Given the description of an element on the screen output the (x, y) to click on. 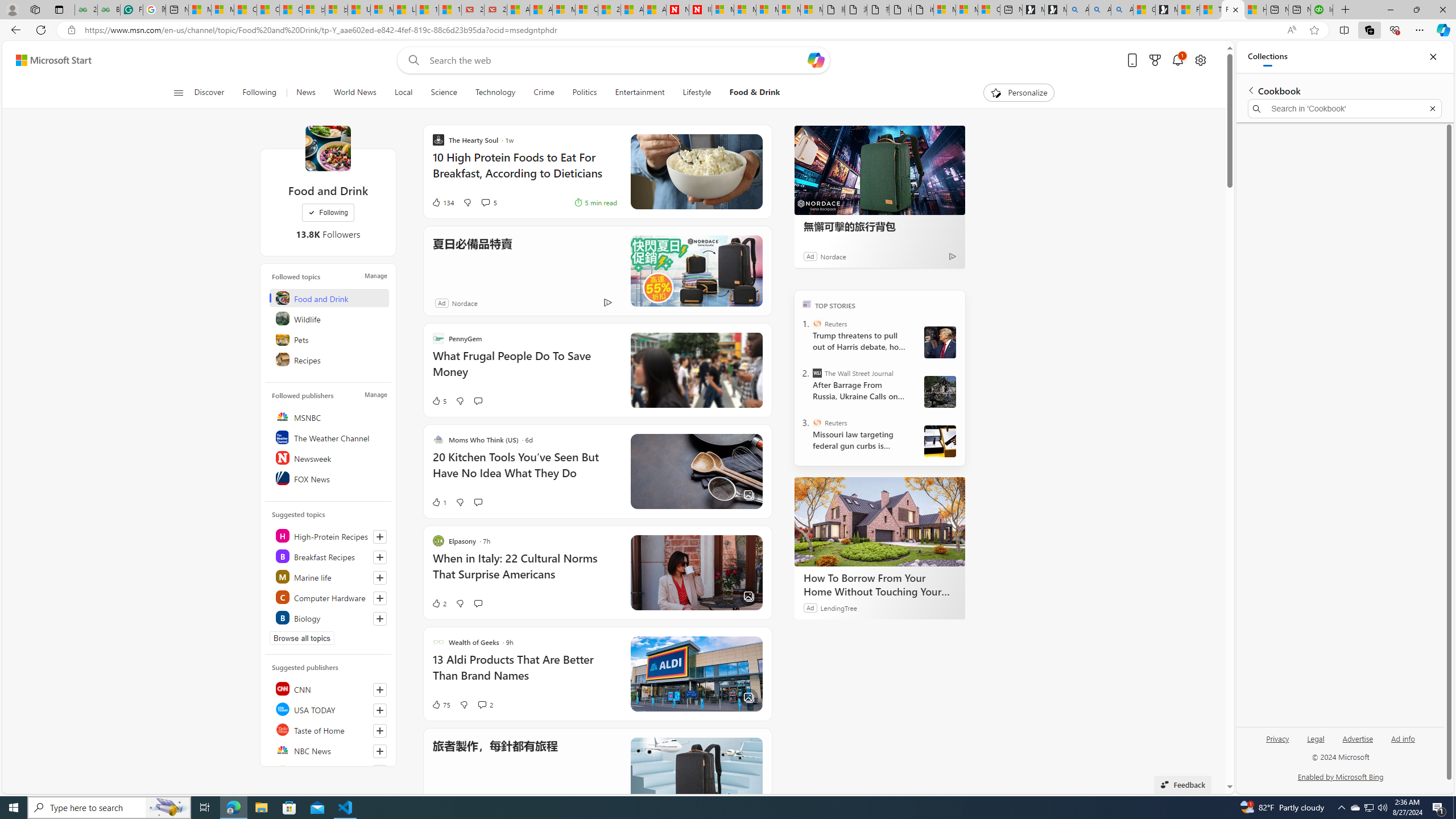
Illness news & latest pictures from Newsweek.com (700, 9)
Manage (375, 394)
Alabama high school quarterback dies - Search (1077, 9)
Following (259, 92)
Settings and more (Alt+F) (1419, 29)
World News (354, 92)
Advertise (1357, 738)
Food and Drink - MSN (1233, 9)
Alabama high school quarterback dies - Search Videos (1122, 9)
Lifestyle (696, 92)
